Given the description of an element on the screen output the (x, y) to click on. 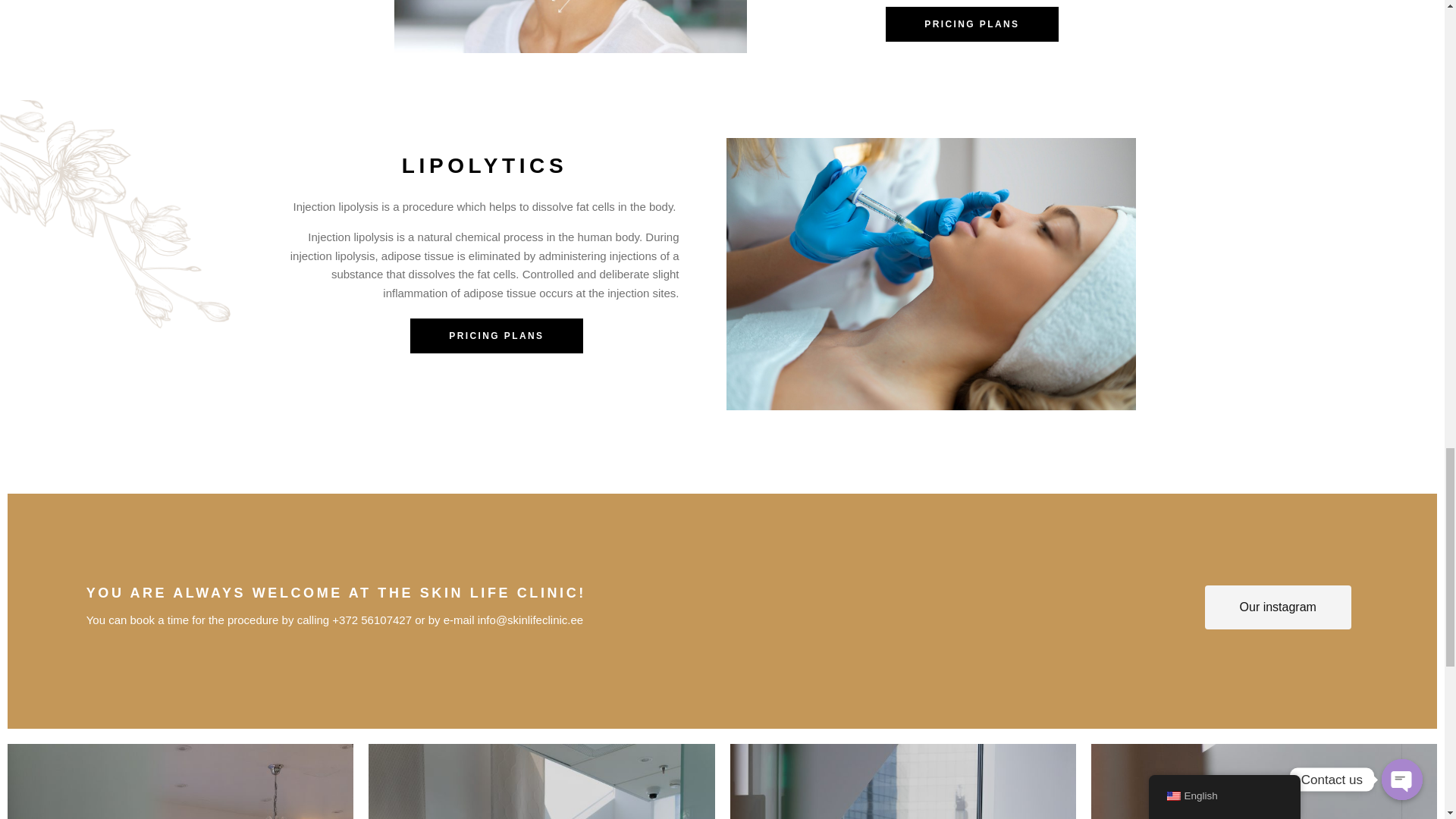
PRICING PLANS (496, 335)
PRICING PLANS (971, 23)
Our instagram (1278, 607)
